Given the description of an element on the screen output the (x, y) to click on. 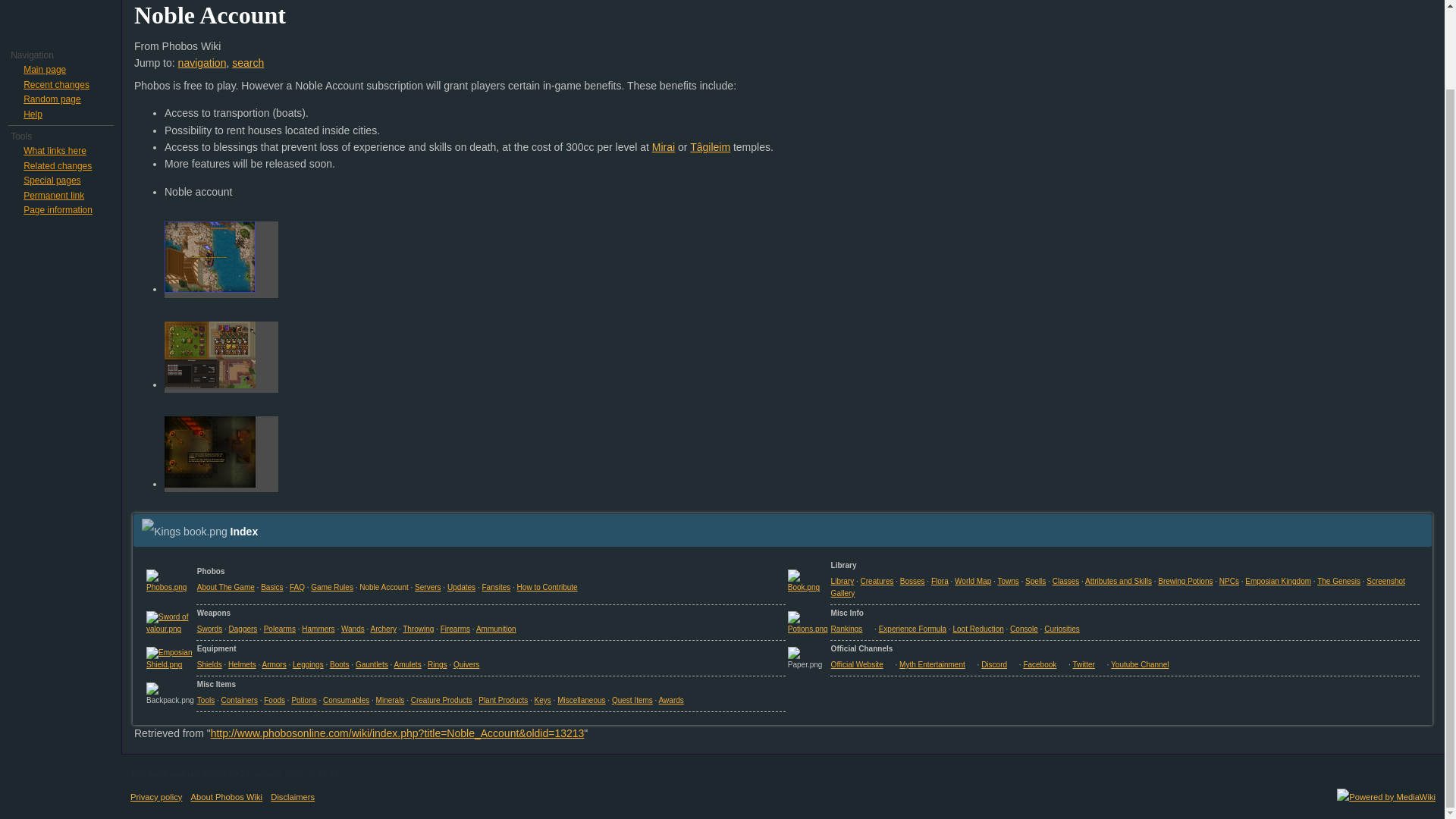
Spells (1035, 581)
About The Game (225, 587)
Classes (1066, 581)
The Genesis (1338, 581)
Noble Account (384, 587)
navigation (202, 62)
Updates (461, 587)
Wands (352, 628)
search (247, 62)
Creatures (876, 581)
Screenshot Gallery (1118, 587)
Towns (1007, 581)
Mirai (663, 146)
Bosses (911, 581)
Polearms (279, 628)
